Given the description of an element on the screen output the (x, y) to click on. 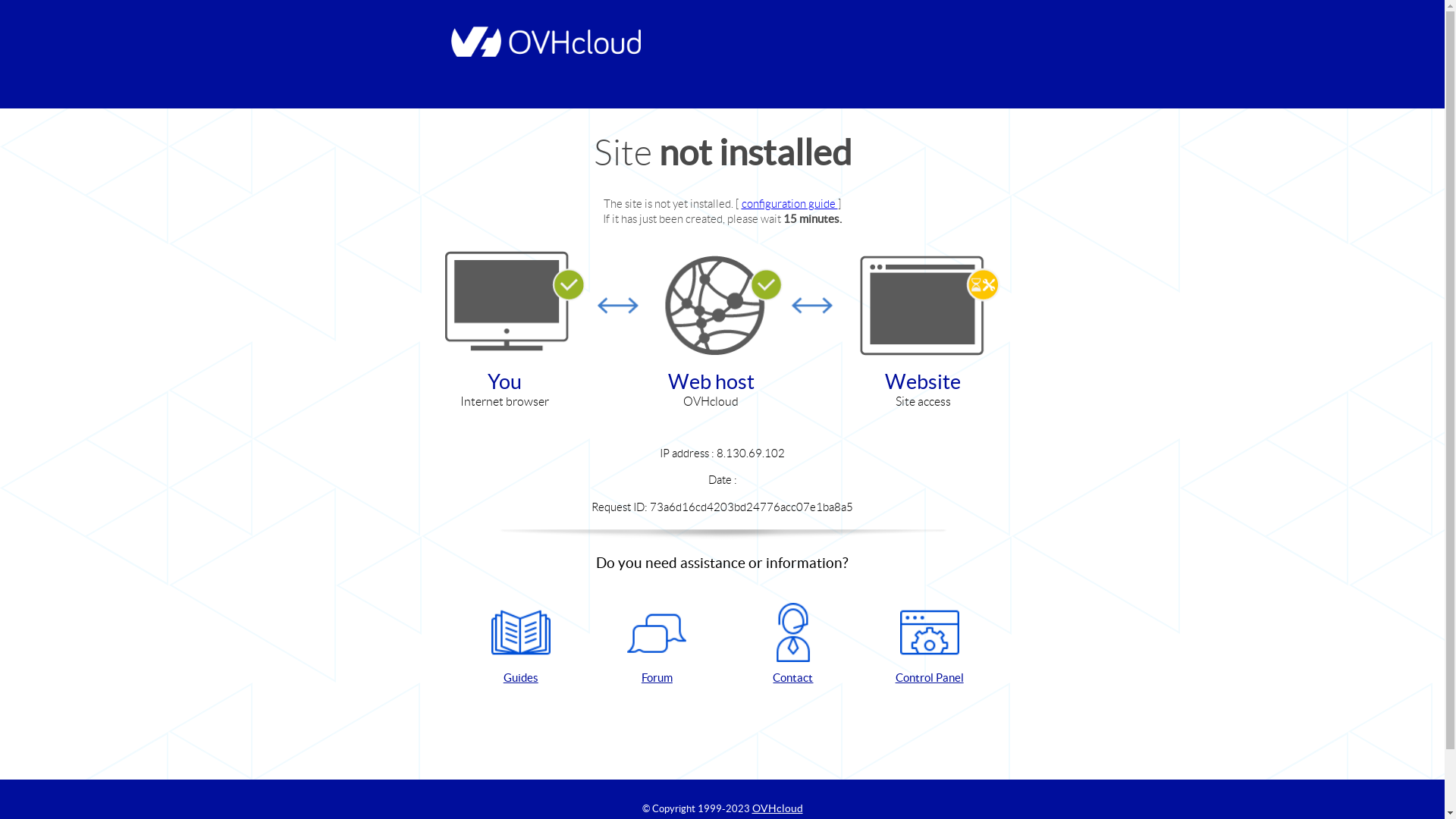
OVHcloud Element type: text (777, 808)
Control Panel Element type: text (929, 644)
Forum Element type: text (656, 644)
Contact Element type: text (792, 644)
Guides Element type: text (520, 644)
configuration guide Element type: text (789, 203)
